Given the description of an element on the screen output the (x, y) to click on. 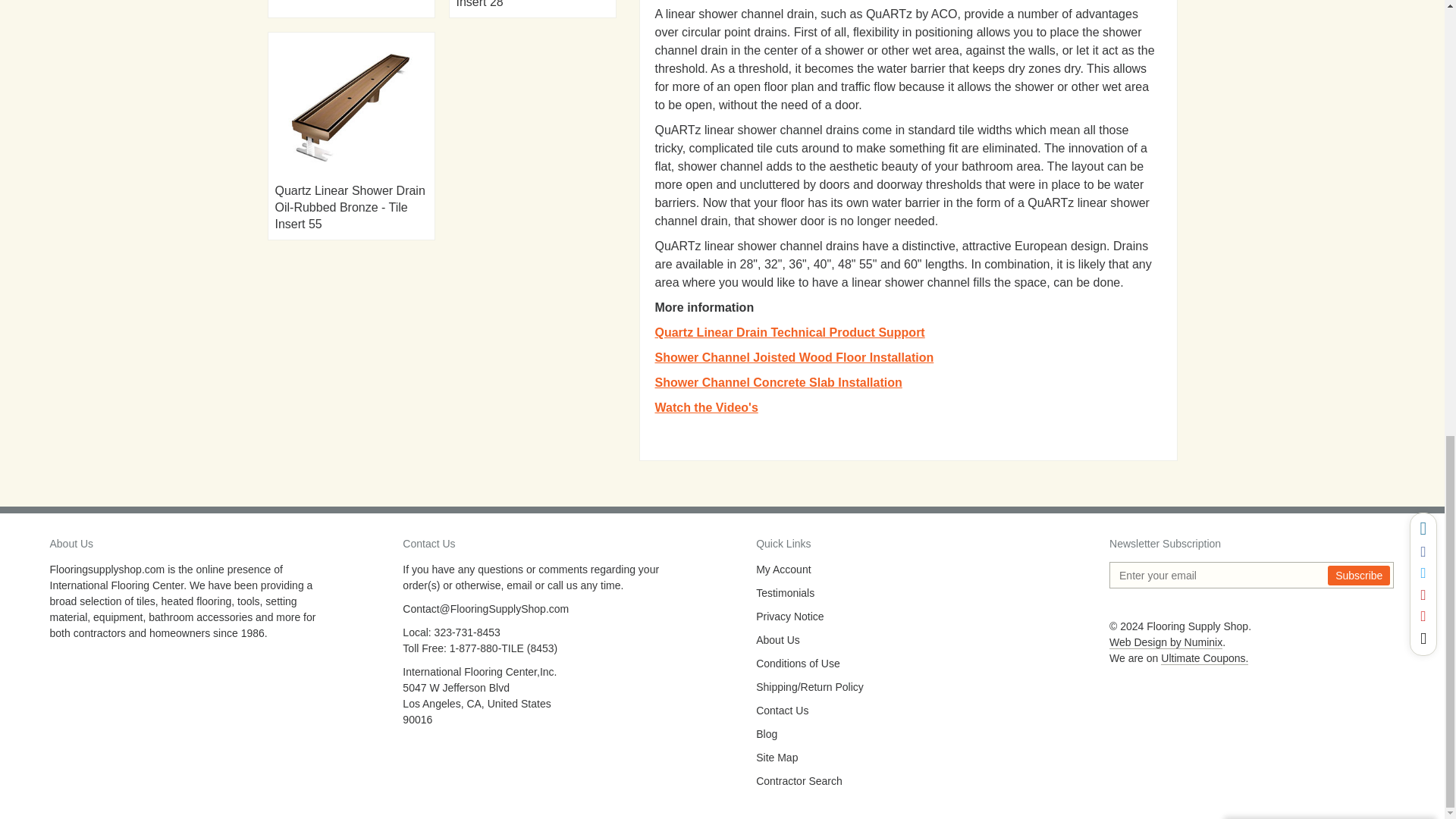
QuARTz by Aco Linear Shower Drain video (706, 407)
Quartz Linear Drain Technical Product Support (789, 332)
Shower Channel Concrete Slab Installation (778, 382)
Flooring Supply Shop coupons (1203, 658)
Shower Channel Joisted Wood Floor Installation (794, 357)
